Given the description of an element on the screen output the (x, y) to click on. 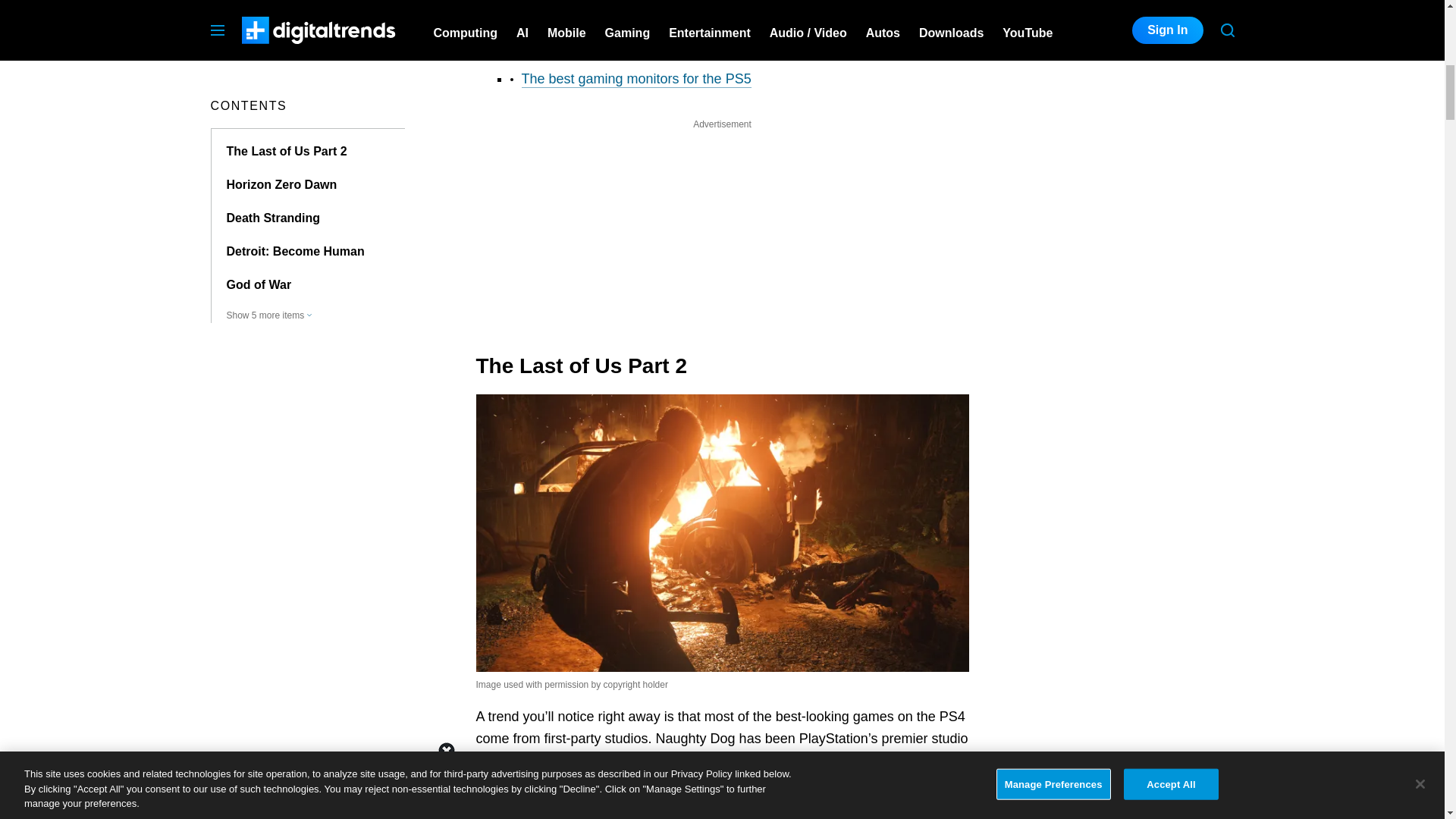
3rd party ad content (721, 227)
3rd party ad content (1120, 41)
